Given the description of an element on the screen output the (x, y) to click on. 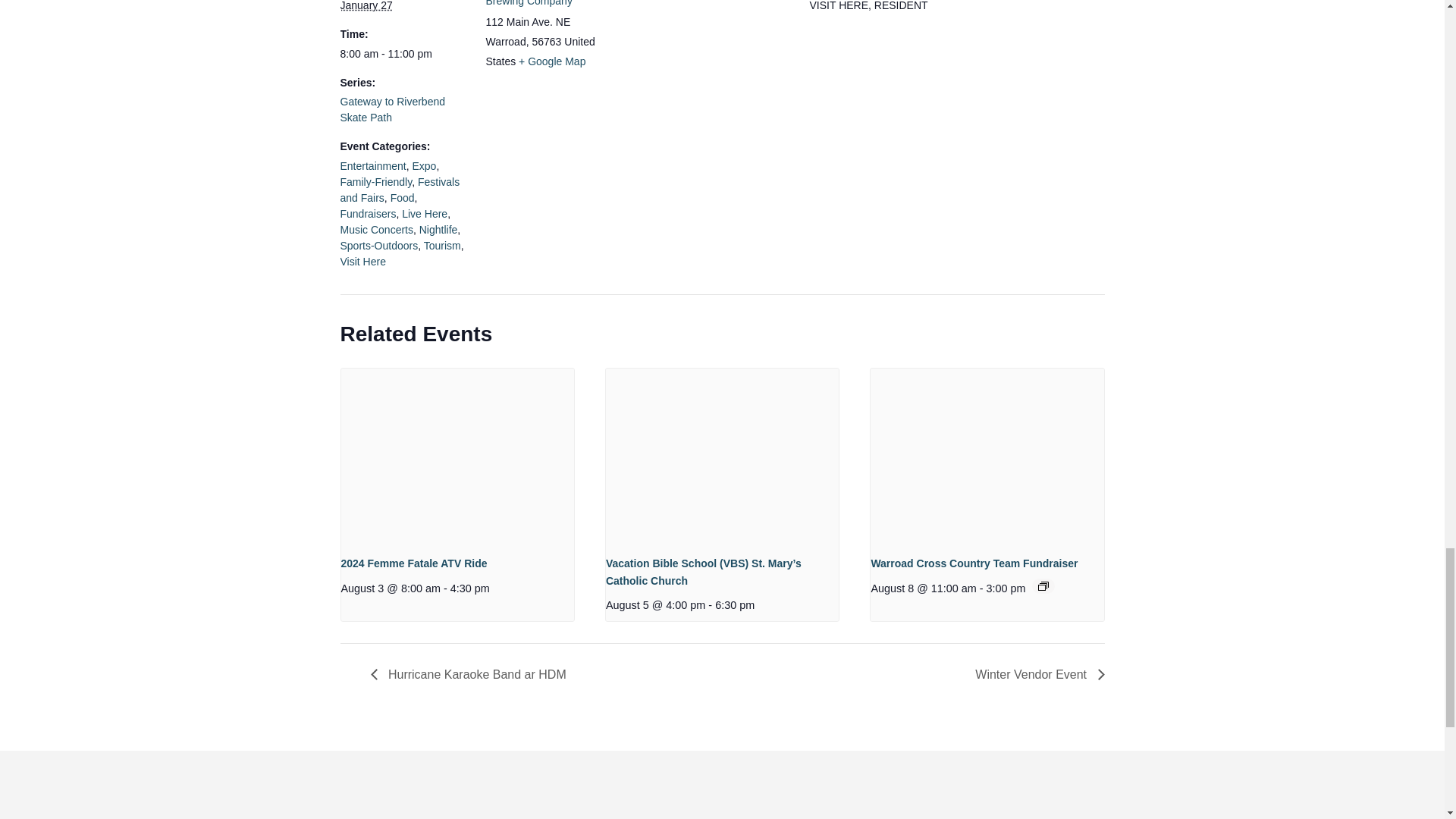
2024-01-27 (365, 5)
Event Series (1043, 585)
2024-01-27 (403, 53)
Gateway to Riverbend Skate Path (392, 109)
Click to view a Google Map (551, 61)
